Given the description of an element on the screen output the (x, y) to click on. 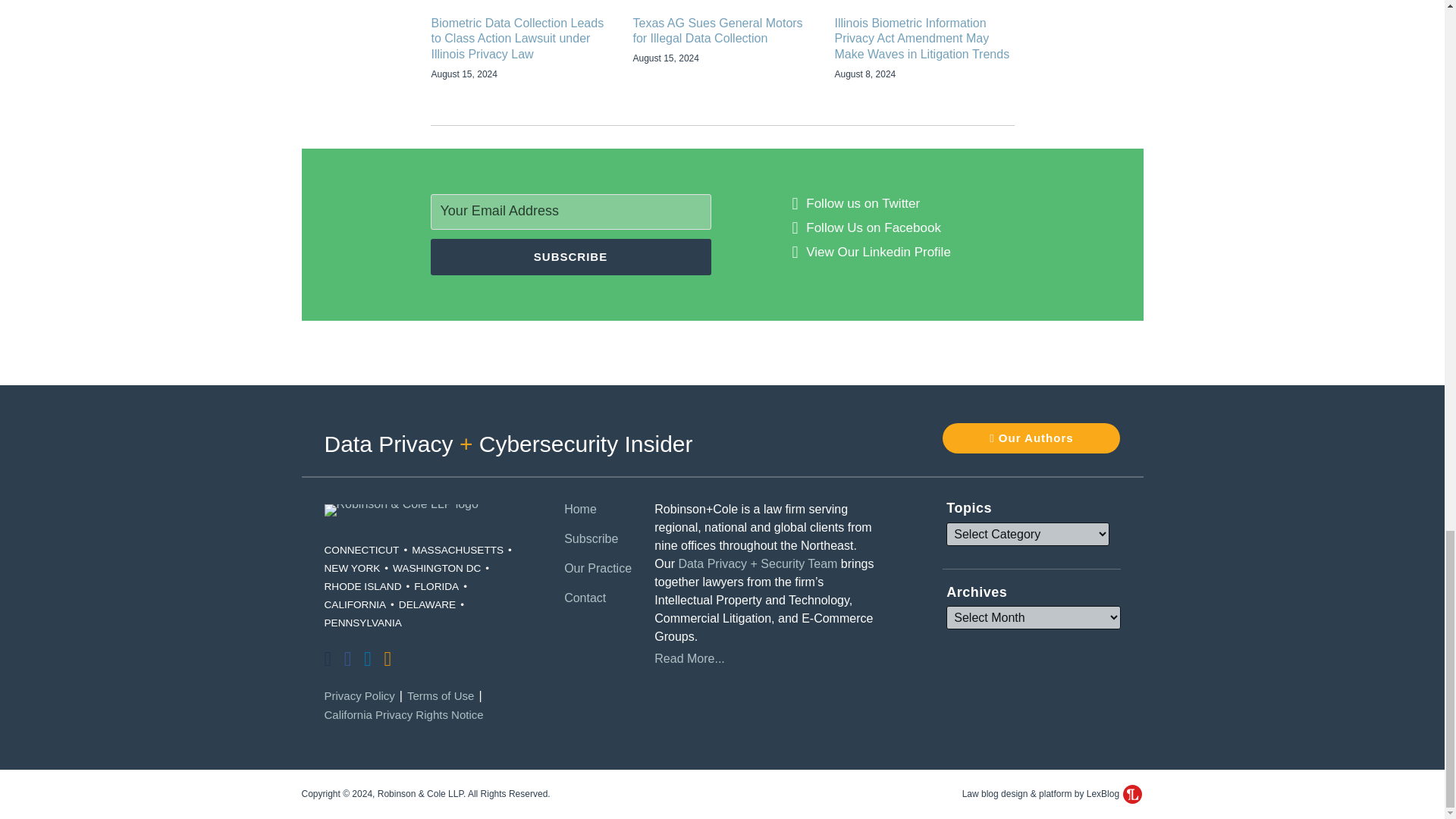
Texas AG Sues General Motors for Illegal Data Collection (720, 31)
LexBlog Logo (1131, 793)
Follow us on Twitter (863, 203)
Subscribe (570, 257)
Subscribe (570, 257)
